Given the description of an element on the screen output the (x, y) to click on. 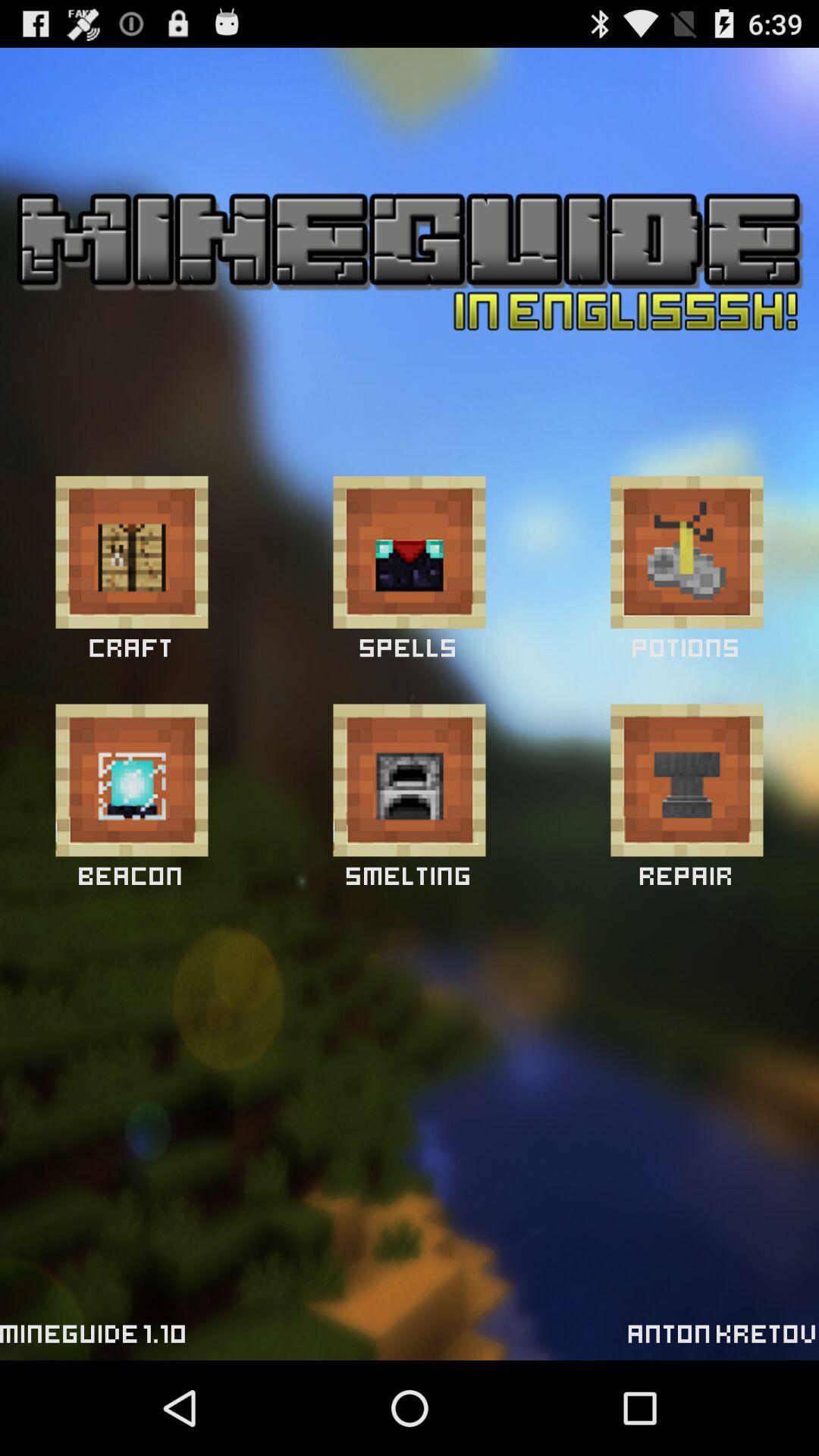
choose app above the beacon item (131, 780)
